Given the description of an element on the screen output the (x, y) to click on. 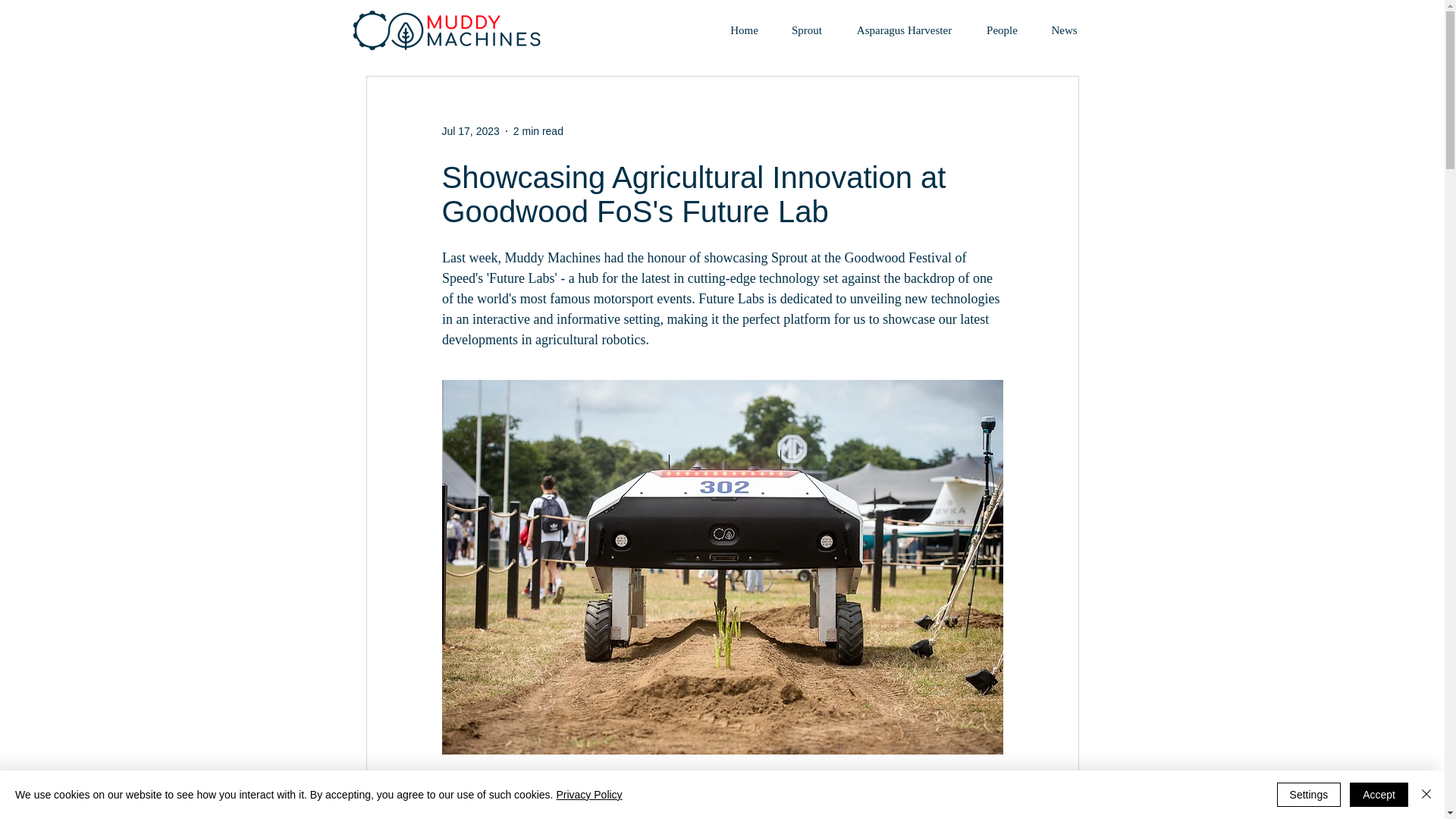
Privacy Policy (588, 794)
Accept (1378, 794)
Home (744, 30)
Sprout (754, 0)
News (1063, 30)
Asparagus Harvester (903, 30)
Sprout (807, 30)
Jul 17, 2023 (470, 130)
Home (708, 0)
